Given the description of an element on the screen output the (x, y) to click on. 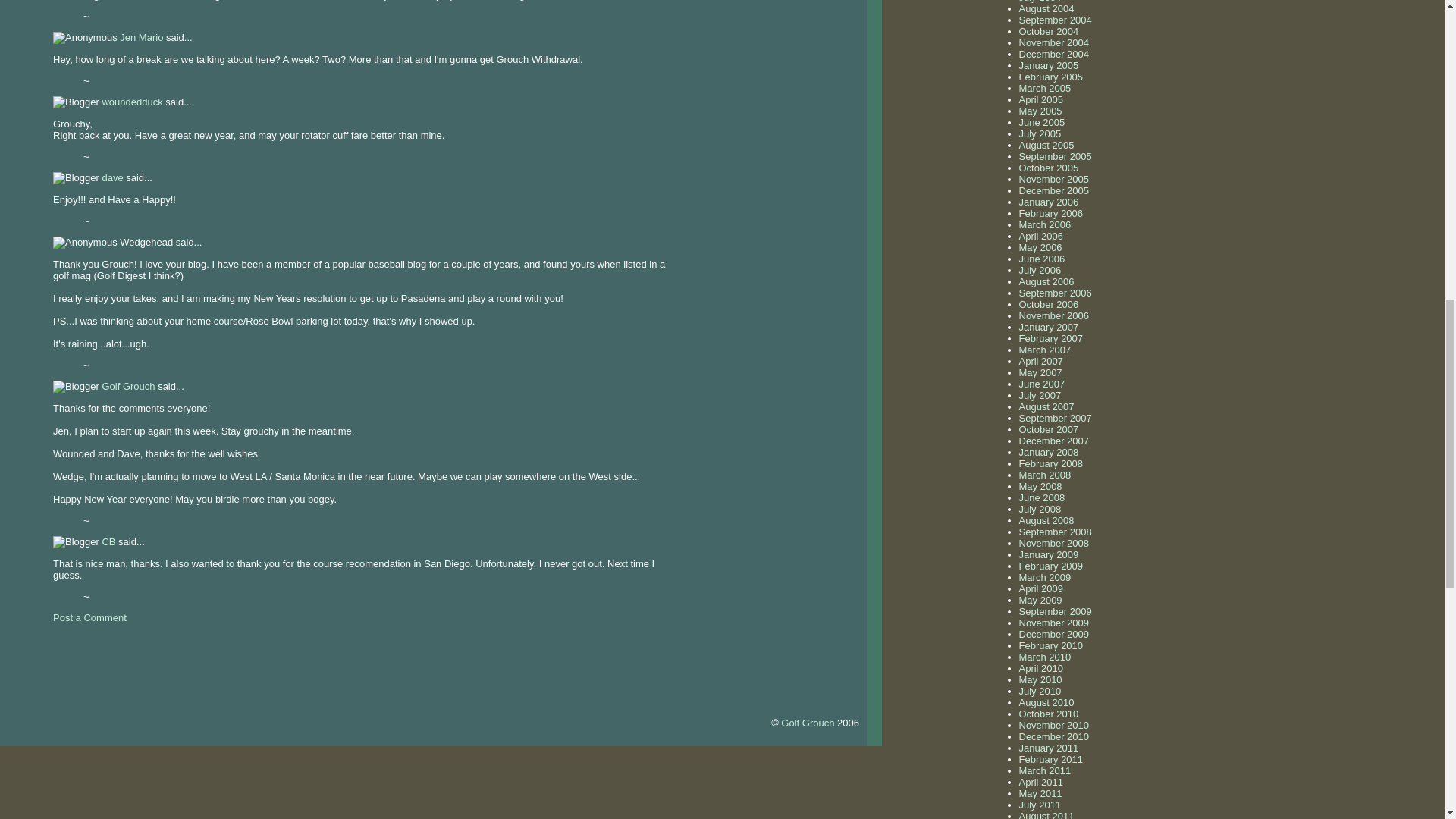
dave (111, 177)
Delete Comment (152, 343)
CB (108, 541)
Delete Comment (178, 199)
woundedduck (131, 101)
Golf Grouch (127, 386)
Advertisement (177, 655)
Post a Comment (89, 617)
Golf Grouch (807, 722)
Delete Comment (447, 134)
